Given the description of an element on the screen output the (x, y) to click on. 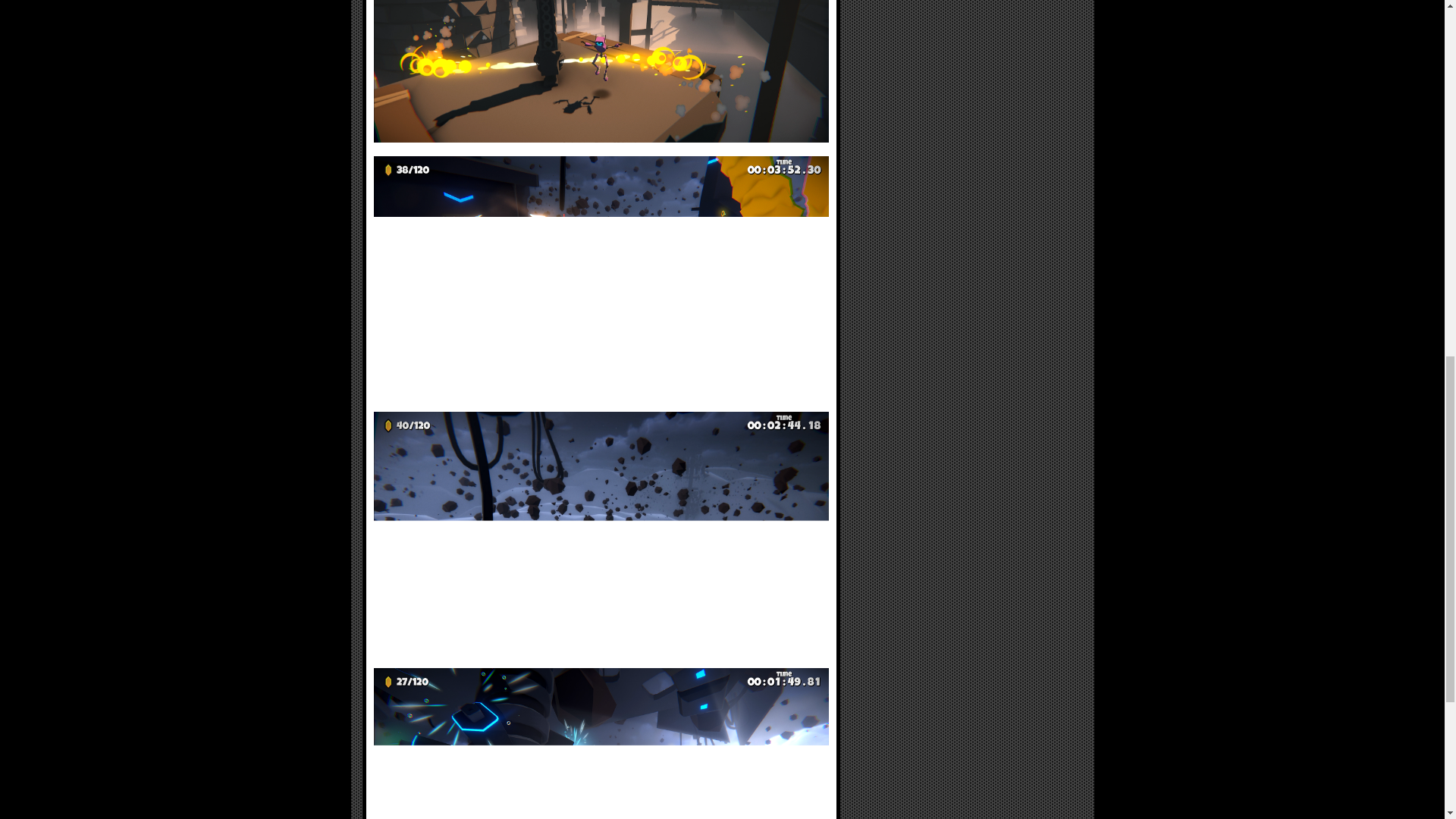
Screenshot 2 (600, 284)
Screenshot 1 (600, 78)
Screenshot 3 (600, 539)
